Given the description of an element on the screen output the (x, y) to click on. 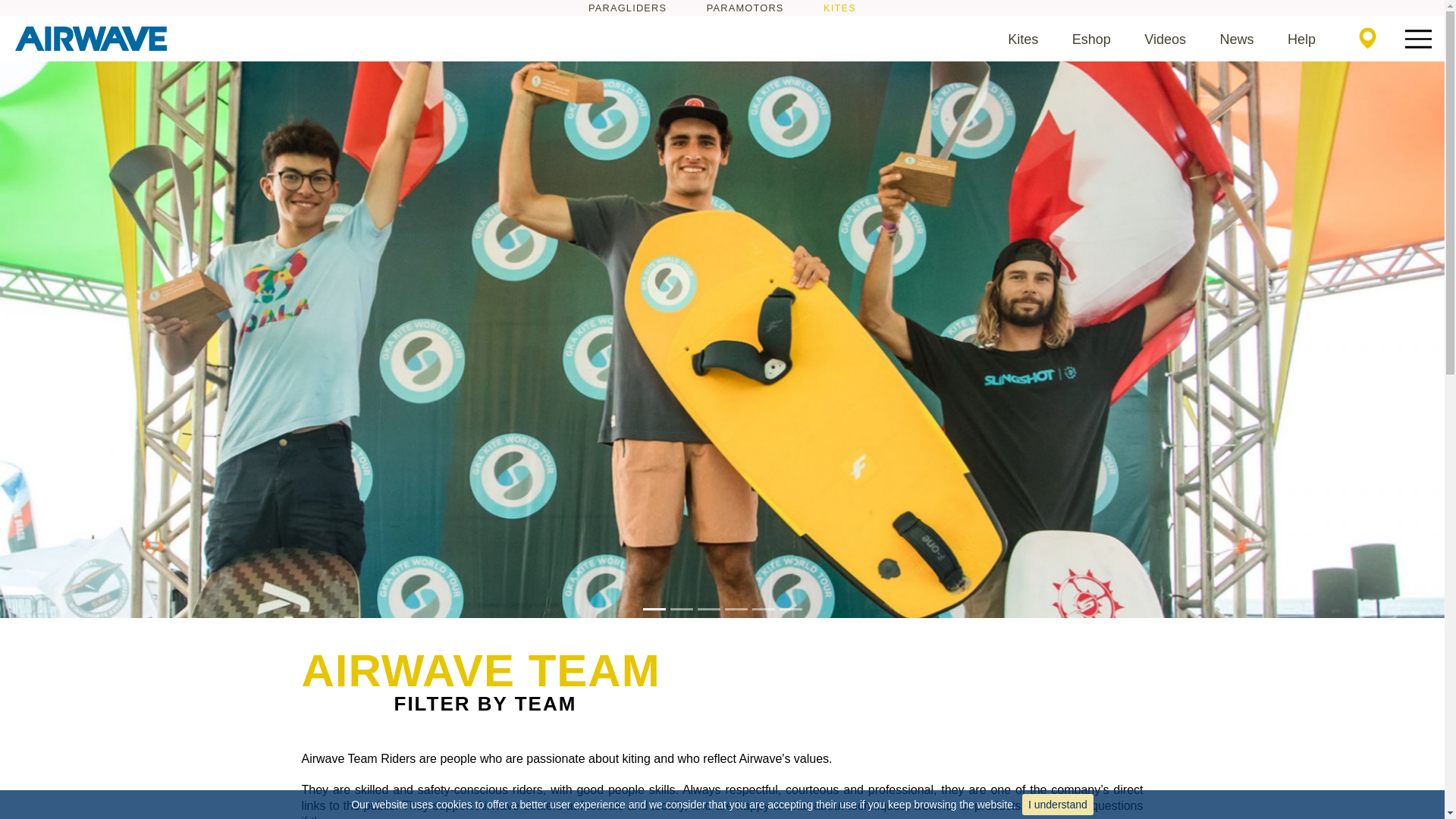
PARAMOTORS (745, 7)
Eshop (1090, 38)
BGD Paramotors (745, 7)
PARAGLIDERS (627, 7)
BGD Paragliders (627, 7)
KITES (840, 7)
Videos (1165, 38)
Help (1301, 38)
Help (1301, 38)
Kites (1022, 38)
I understand (1057, 803)
AIRWAVE kites (90, 38)
Menu (1418, 38)
Eshop (1090, 38)
News (1236, 38)
